Given the description of an element on the screen output the (x, y) to click on. 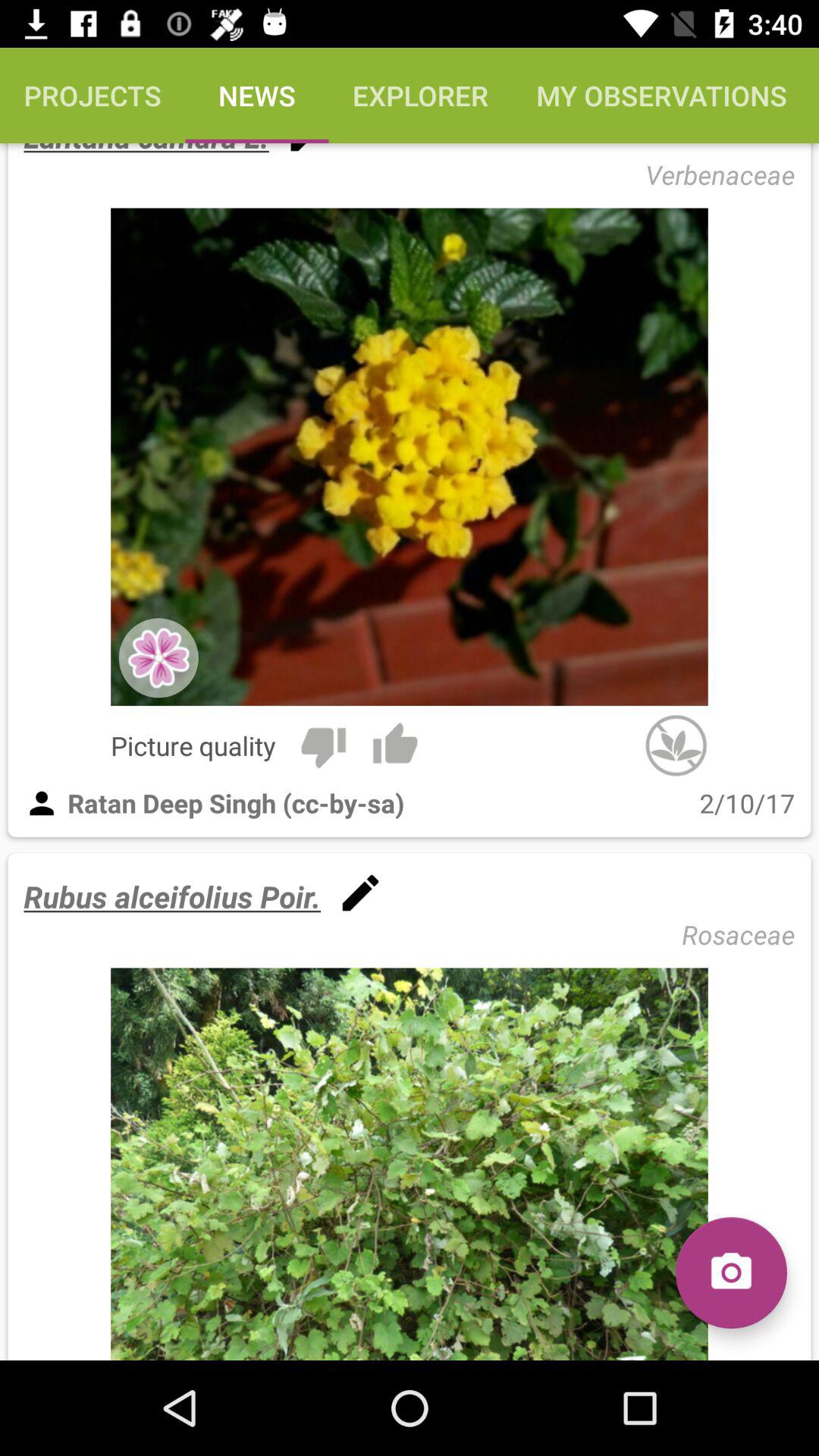
swipe to rubus alceifolius poir. icon (171, 896)
